Given the description of an element on the screen output the (x, y) to click on. 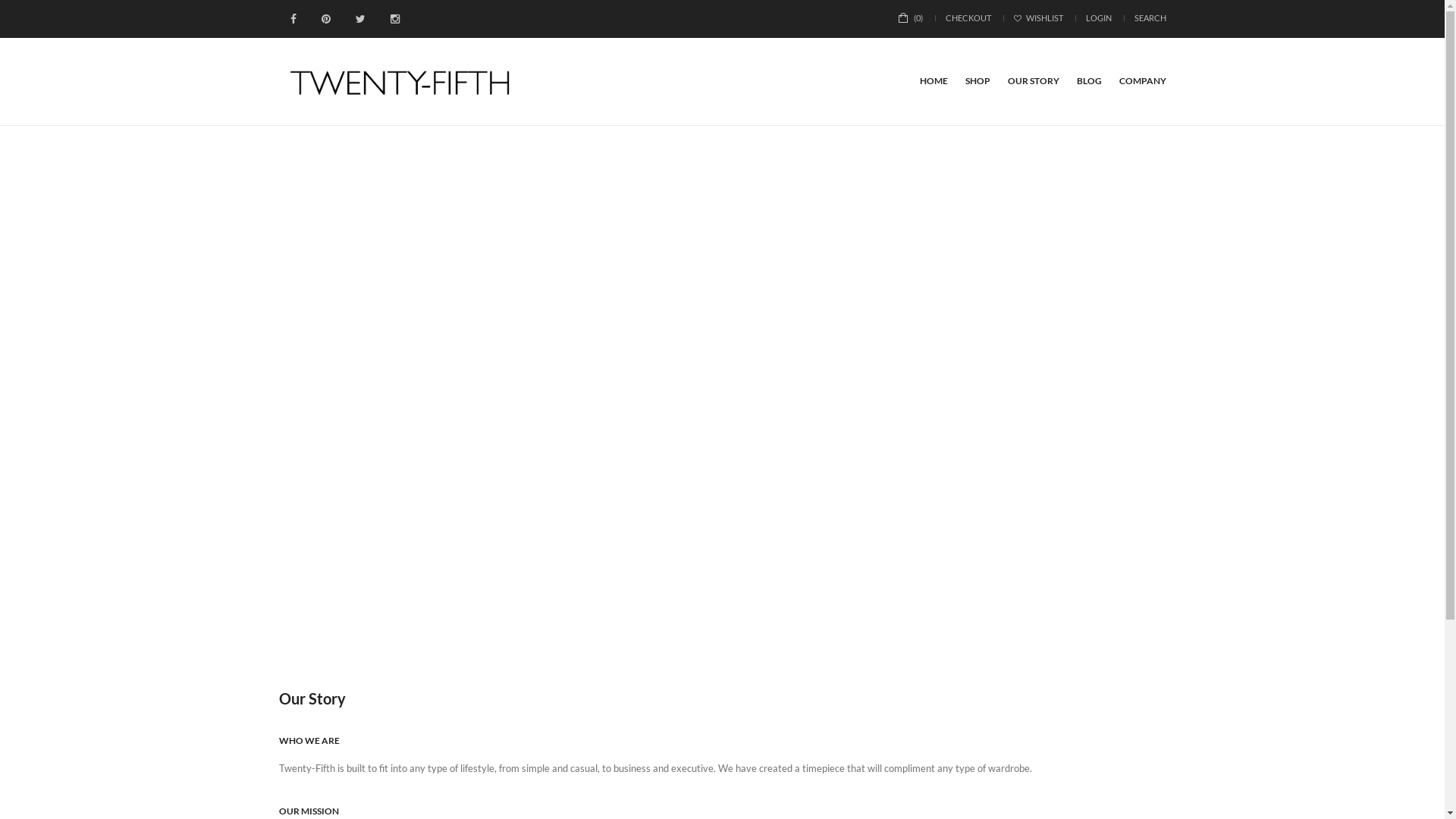
CHECKOUT Element type: text (967, 17)
HOME Element type: text (933, 80)
SEARCH Element type: text (1150, 17)
WISHLIST Element type: text (1037, 17)
LOGIN Element type: text (1098, 17)
COMPANY Element type: text (1142, 80)
(0) Element type: text (909, 17)
SHOP Element type: text (976, 80)
OUR STORY Element type: text (1032, 80)
BLOG Element type: text (1088, 80)
